Given the description of an element on the screen output the (x, y) to click on. 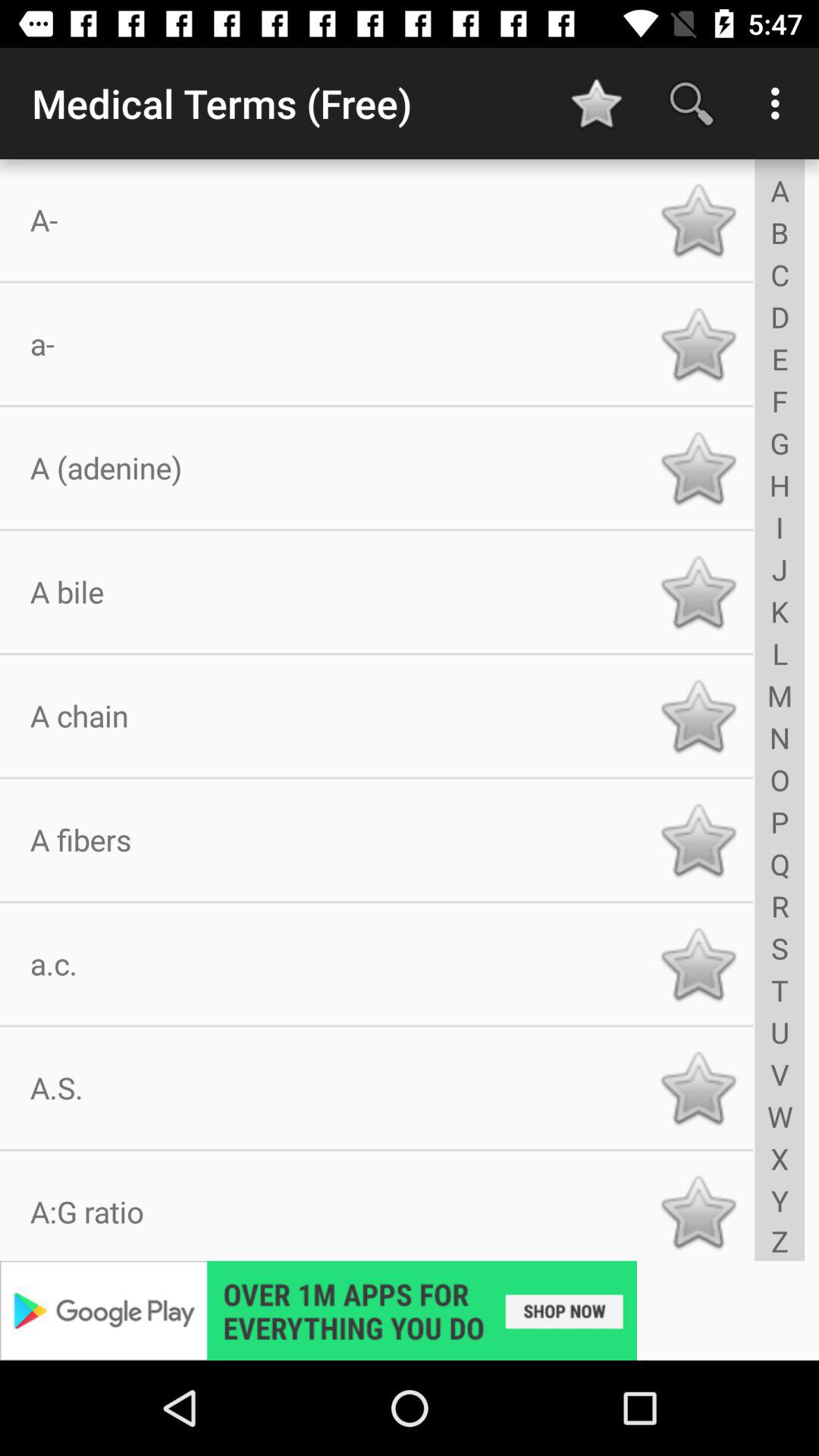
select medical terms listed under a- (697, 220)
